Given the description of an element on the screen output the (x, y) to click on. 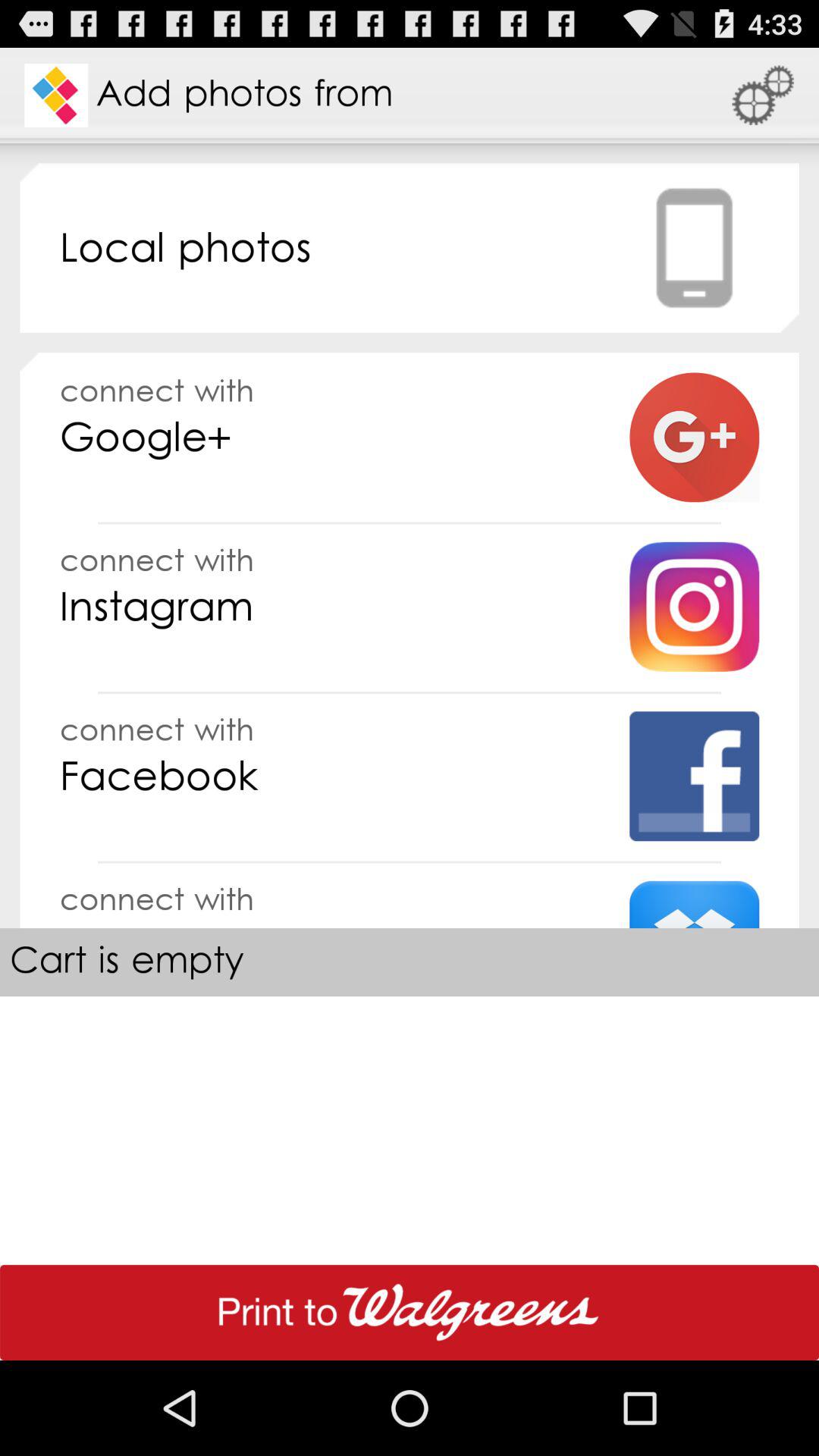
turn off the app to the right of add photos from (763, 95)
